Given the description of an element on the screen output the (x, y) to click on. 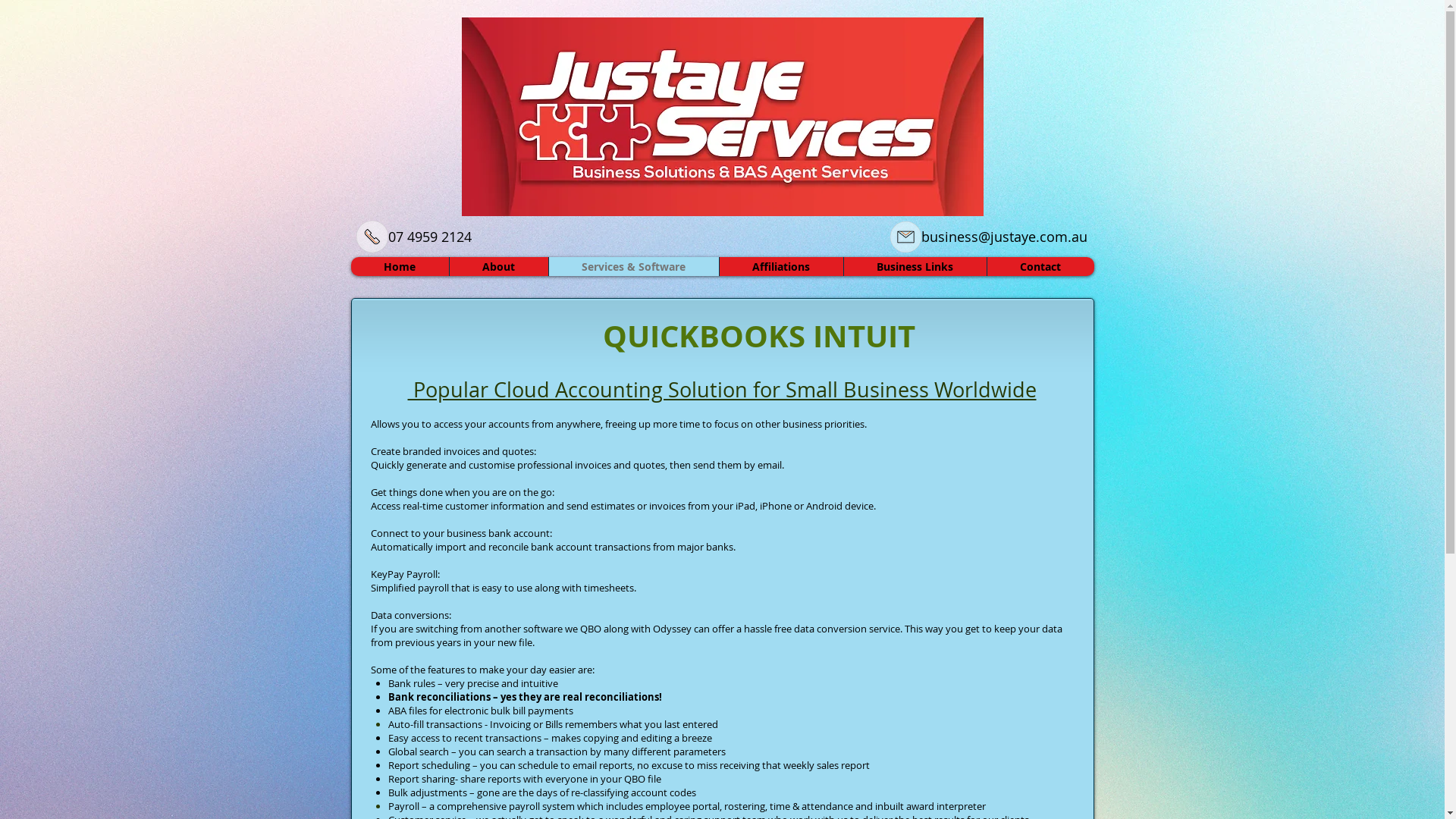
Home Element type: text (399, 266)
Services & Software Element type: text (632, 266)
About Element type: text (498, 266)
Business Links Element type: text (914, 266)
Affiliations Element type: text (780, 266)
business@justaye.com.au Element type: text (1003, 236)
Contact Element type: text (1039, 266)
